Given the description of an element on the screen output the (x, y) to click on. 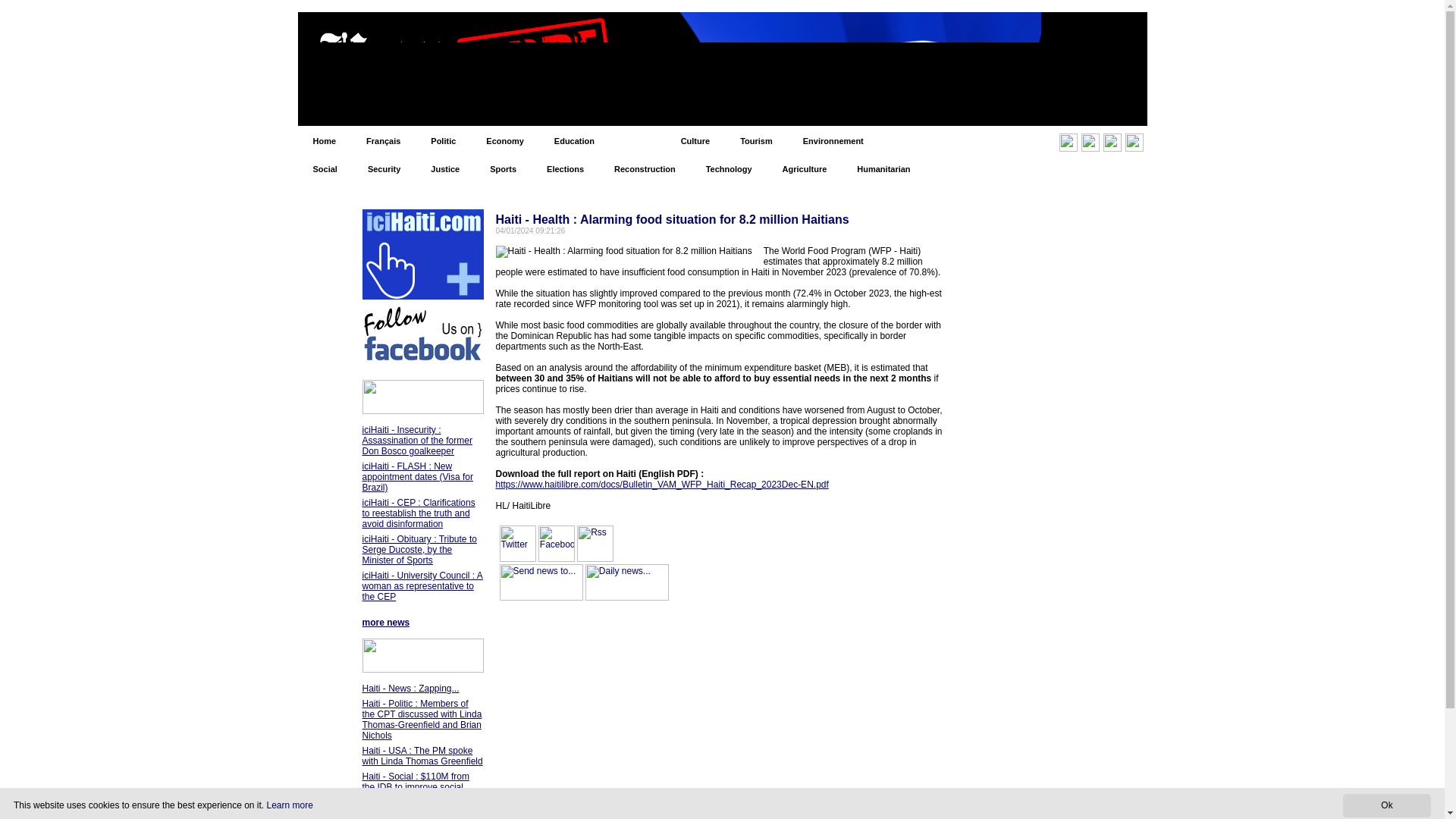
Technology (728, 168)
Security (383, 168)
COVID-19 (913, 141)
Elections (564, 168)
Environnement (833, 141)
Agriculture (805, 168)
Tourism (756, 141)
Reconstruction (644, 168)
Justice (444, 168)
Social (324, 168)
Social (324, 168)
Haiti - News : Zapping... (411, 688)
Sports (502, 168)
